Given the description of an element on the screen output the (x, y) to click on. 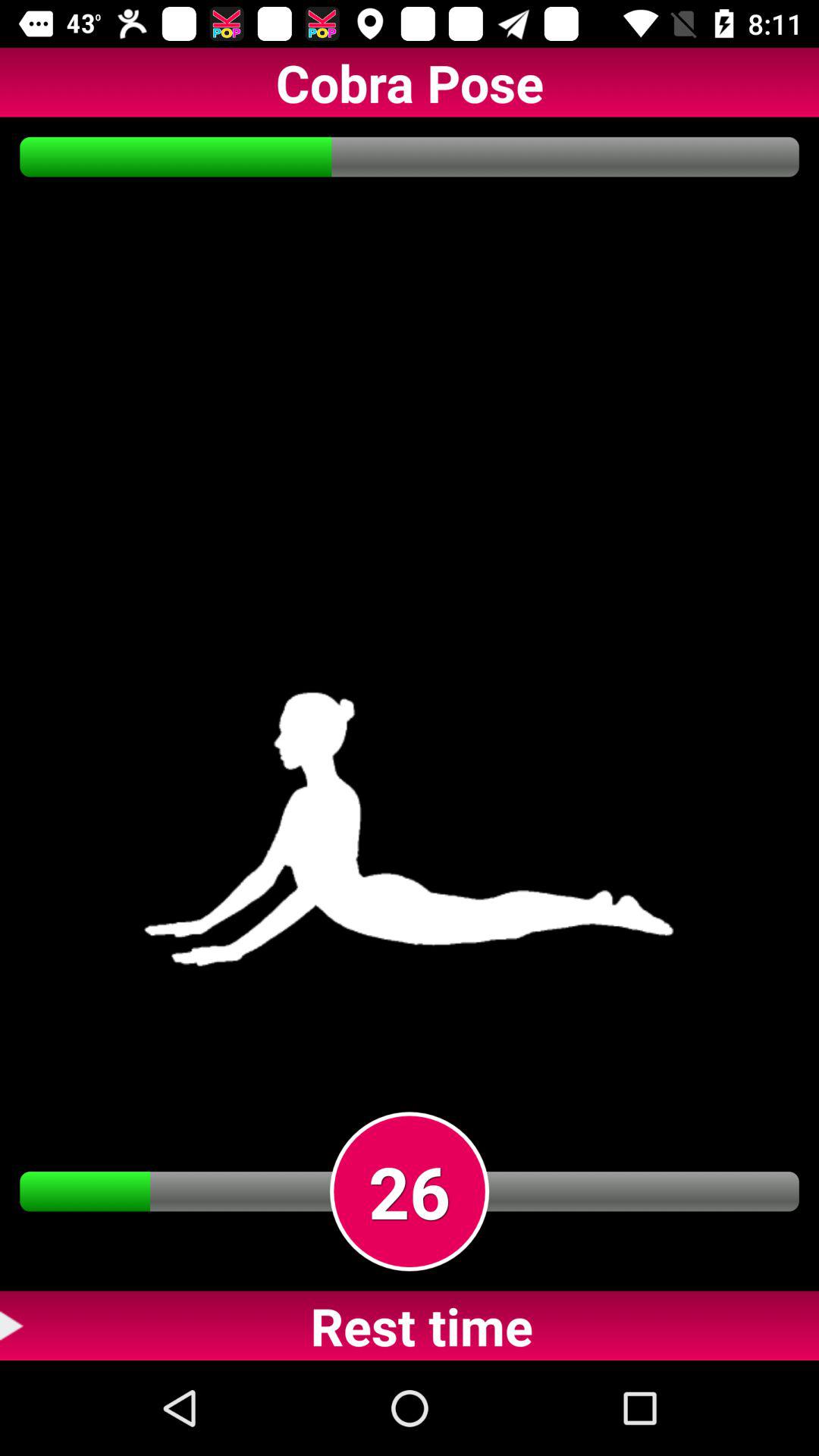
tap the app below the 26 (409, 1325)
